Given the description of an element on the screen output the (x, y) to click on. 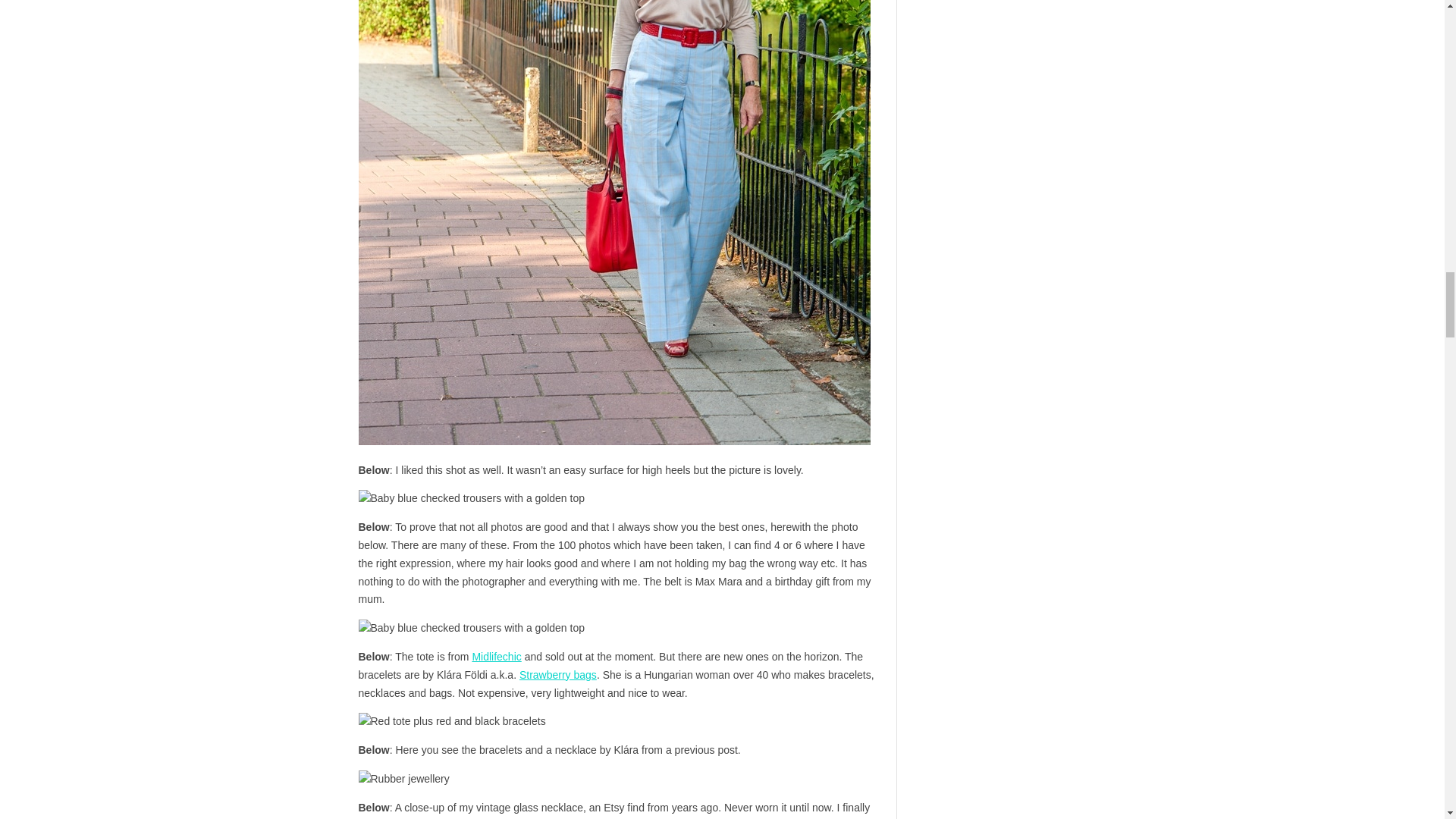
Strawberry bags (557, 674)
Midlifechic (496, 656)
